Given the description of an element on the screen output the (x, y) to click on. 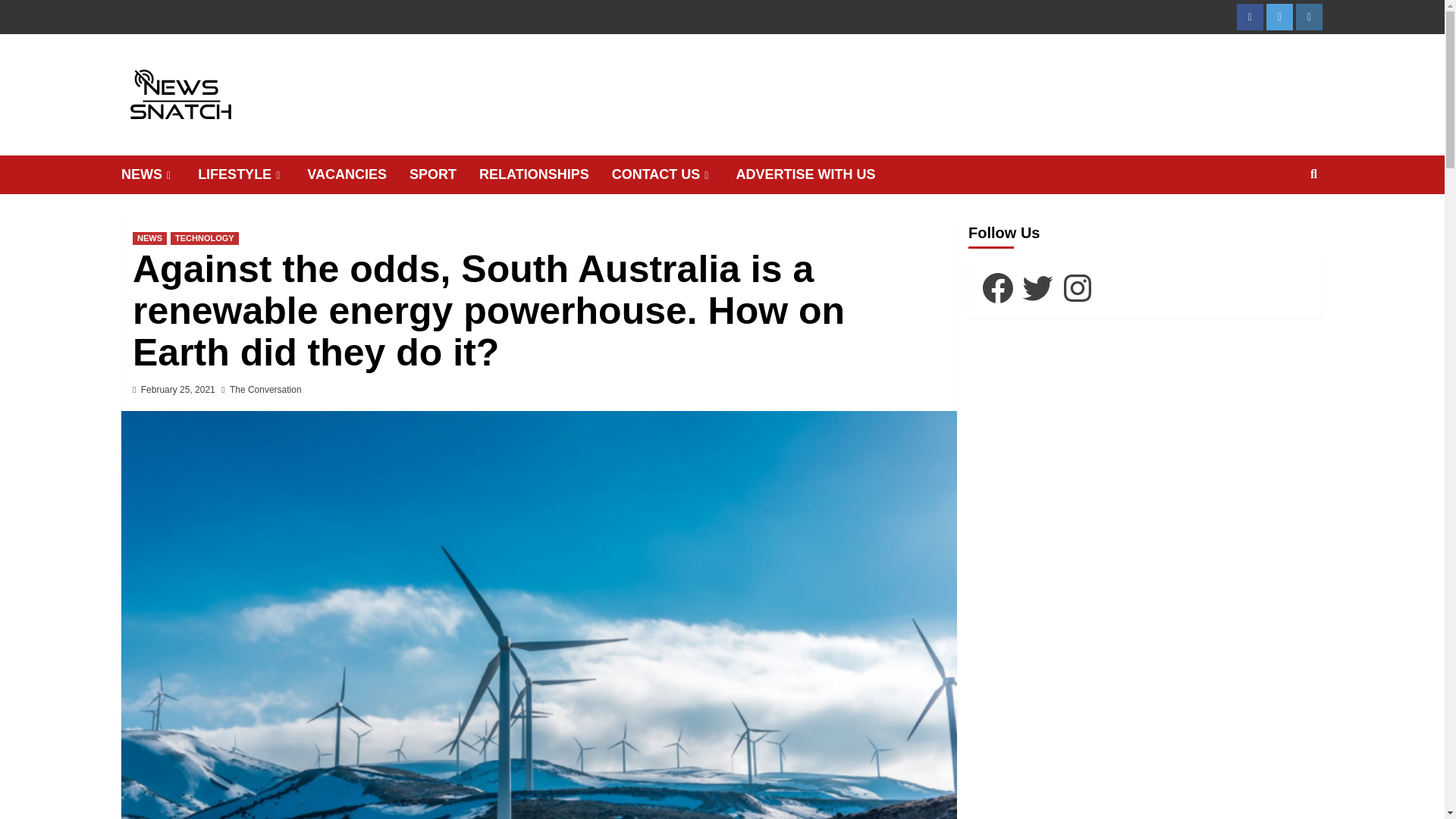
The Conversation (265, 389)
NEWS (149, 237)
NEWS (159, 174)
RELATIONSHIPS (545, 174)
SPORT (444, 174)
Search (1278, 223)
Twitter (1279, 17)
ADVERTISE WITH US (816, 174)
TECHNOLOGY (204, 237)
February 25, 2021 (178, 389)
Facebook (1249, 17)
CONTACT US (673, 174)
VACANCIES (358, 174)
LIFESTYLE (252, 174)
Instagram (1308, 17)
